Given the description of an element on the screen output the (x, y) to click on. 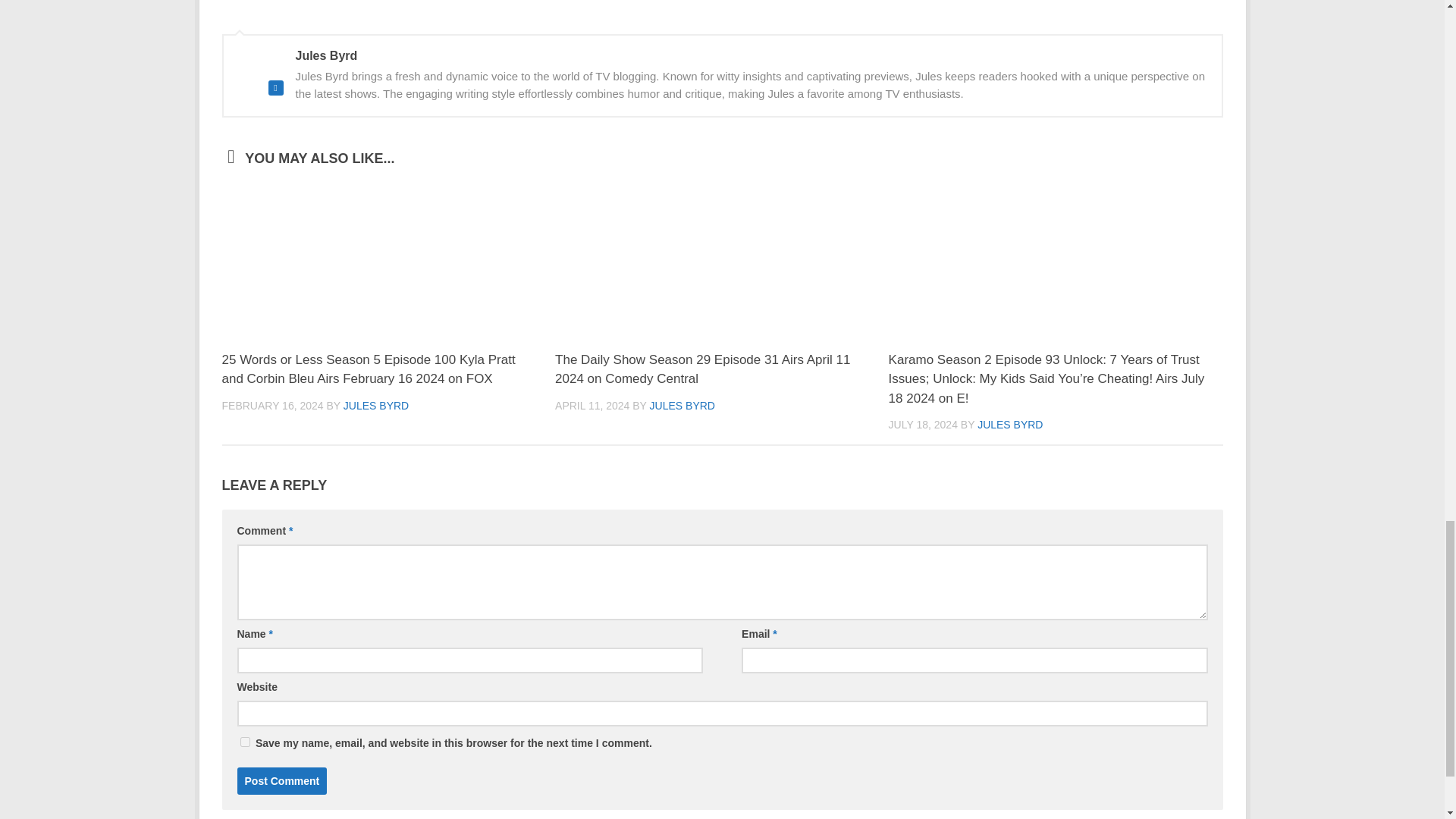
yes (244, 764)
Post Comment (280, 802)
Posts by Jules Byrd (1009, 446)
Post Comment (280, 802)
JULES BYRD (681, 427)
JULES BYRD (376, 427)
Posts by Jules Byrd (376, 427)
